Given the description of an element on the screen output the (x, y) to click on. 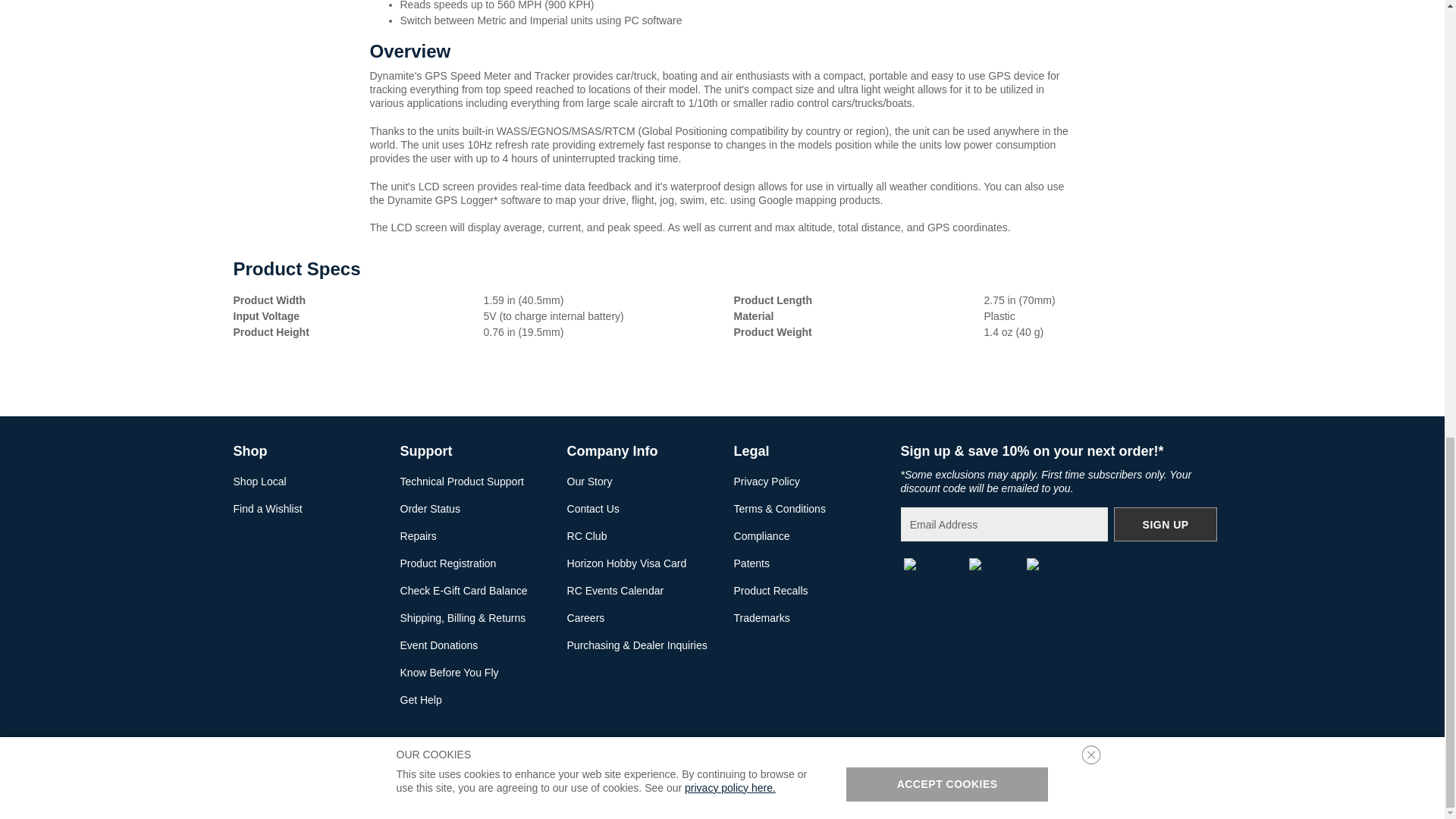
Go to Facebook (933, 564)
